Given the description of an element on the screen output the (x, y) to click on. 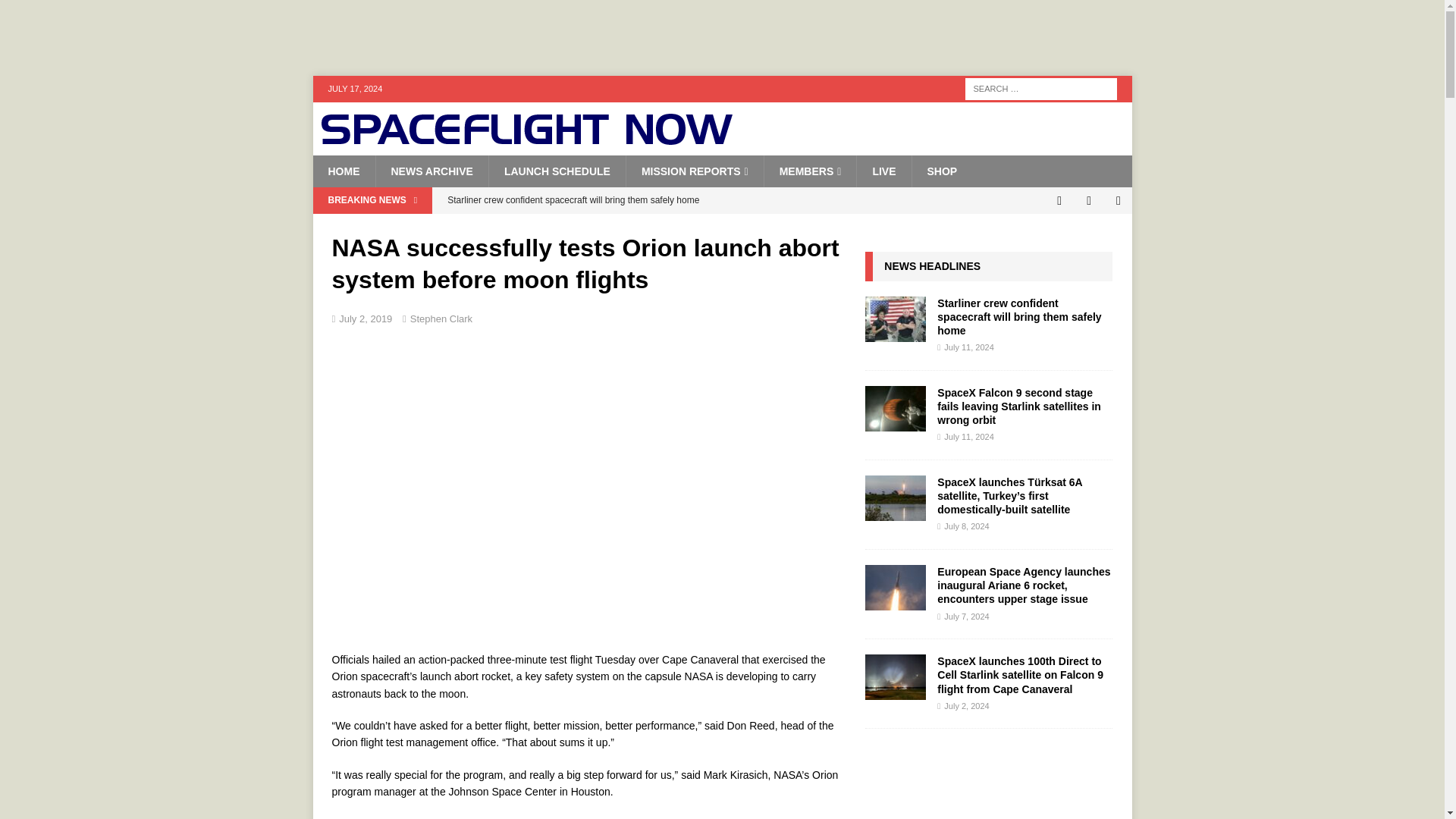
Search (56, 11)
HOME (343, 171)
MEMBERS (809, 171)
MISSION REPORTS (694, 171)
NEWS ARCHIVE (430, 171)
Spaceflight Now (526, 139)
LAUNCH SCHEDULE (556, 171)
